Given the description of an element on the screen output the (x, y) to click on. 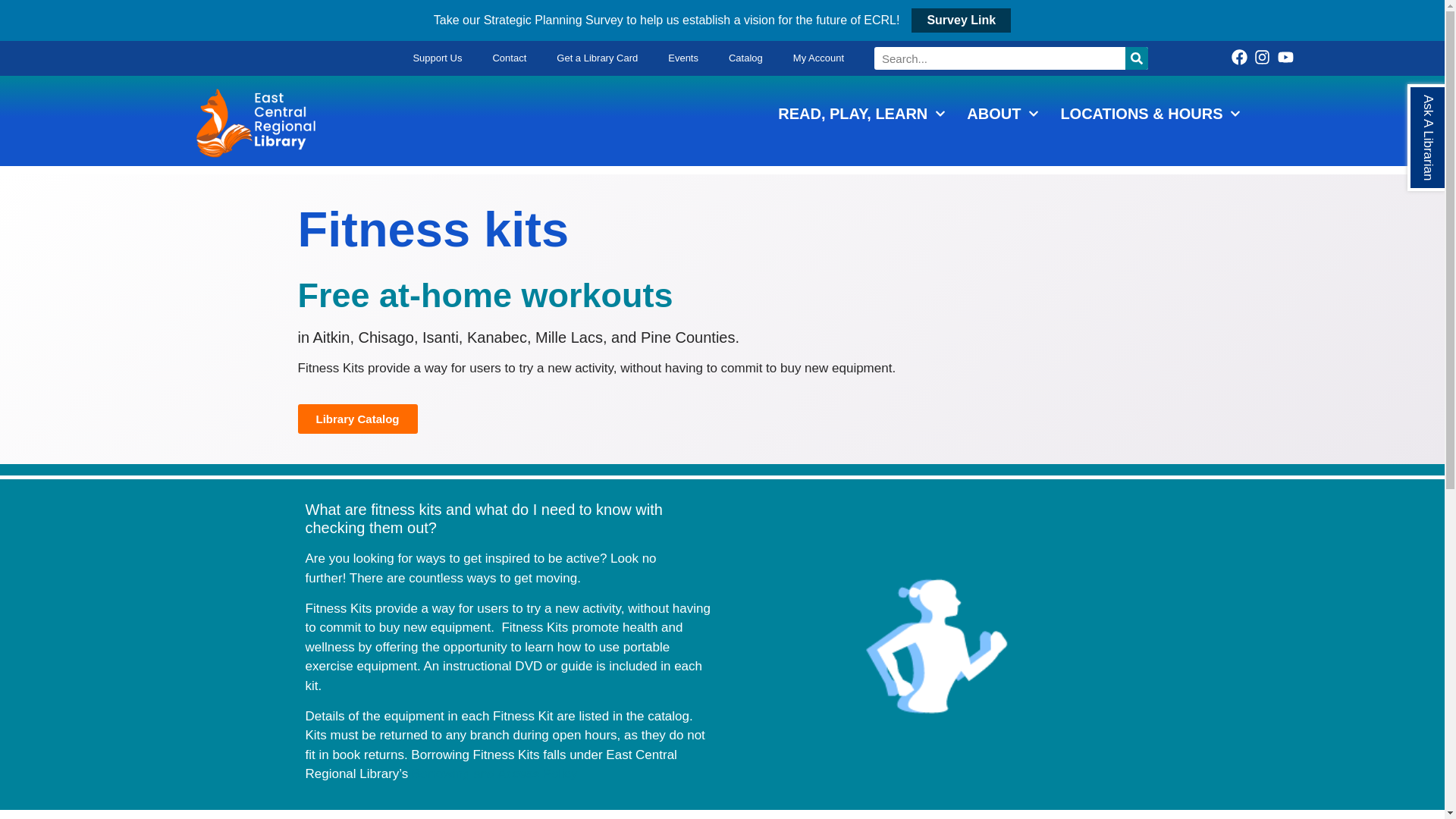
Support Us (437, 58)
Events (682, 58)
Survey Link (960, 20)
Catalog (745, 58)
ABOUT (1002, 113)
Get a Library Card (596, 58)
READ, PLAY, LEARN (861, 113)
Contact (509, 58)
My Account (818, 58)
